Given the description of an element on the screen output the (x, y) to click on. 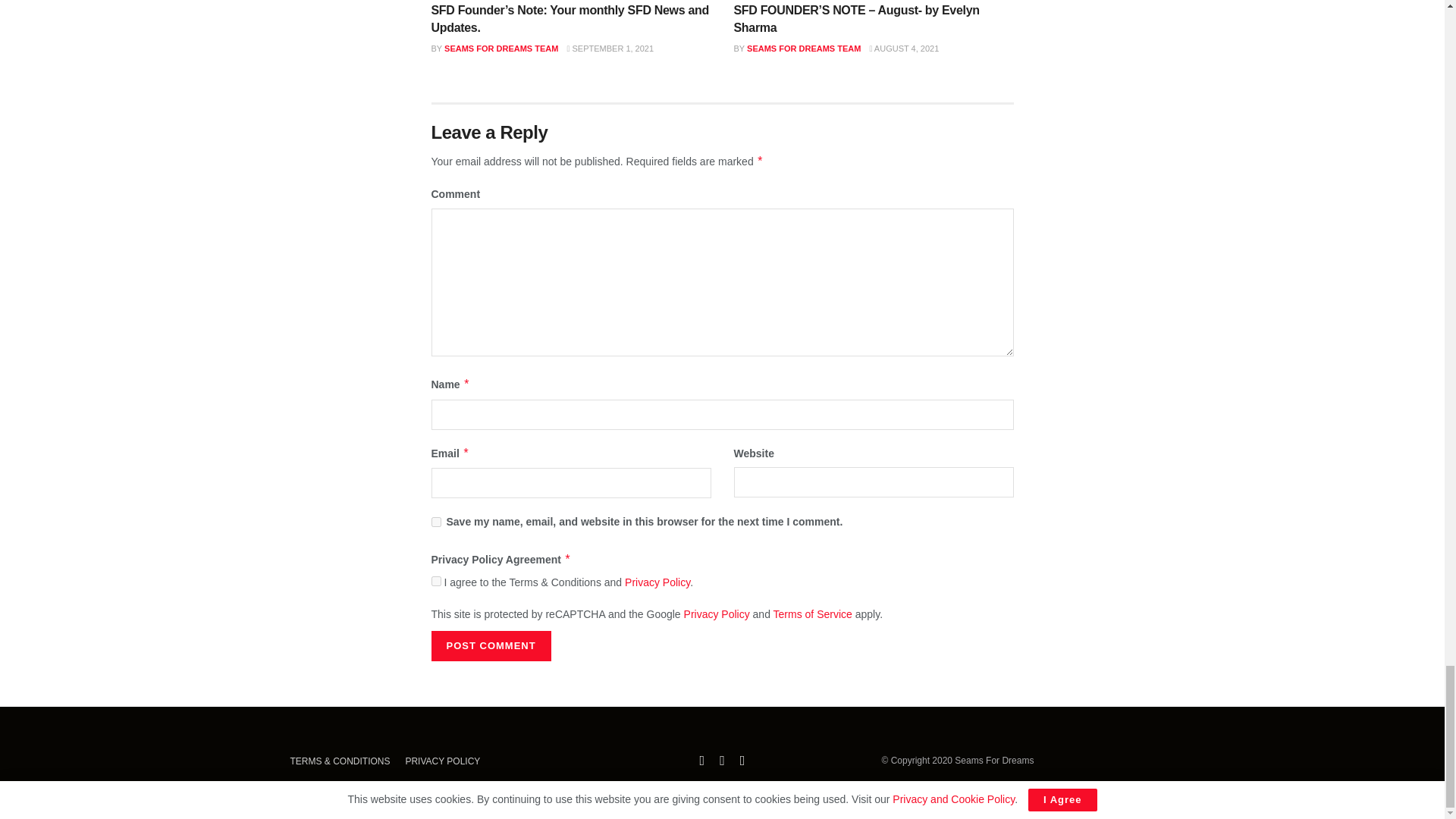
yes (435, 521)
Post Comment (490, 645)
on (435, 581)
